Given the description of an element on the screen output the (x, y) to click on. 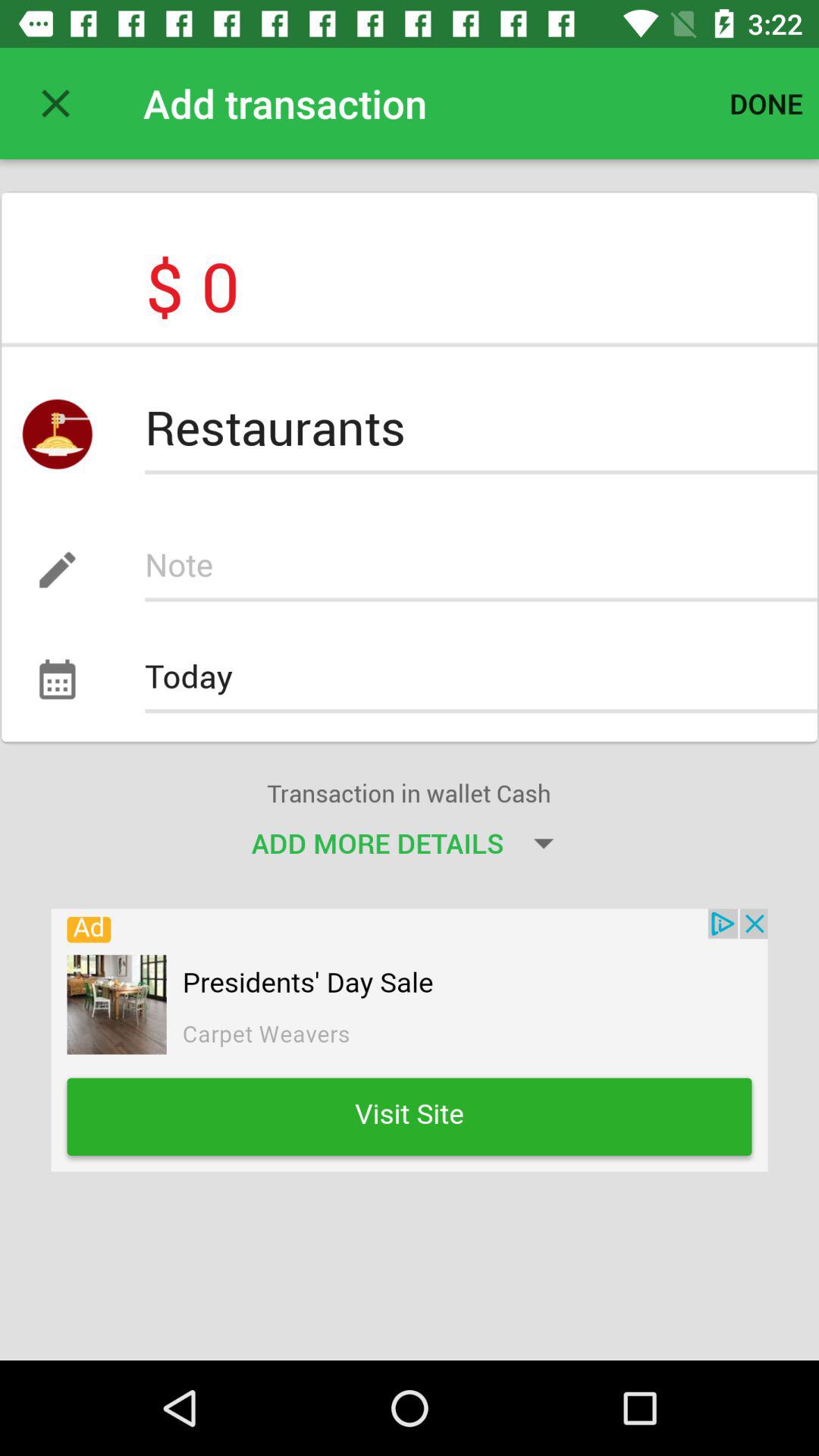
go to search (481, 569)
